Given the description of an element on the screen output the (x, y) to click on. 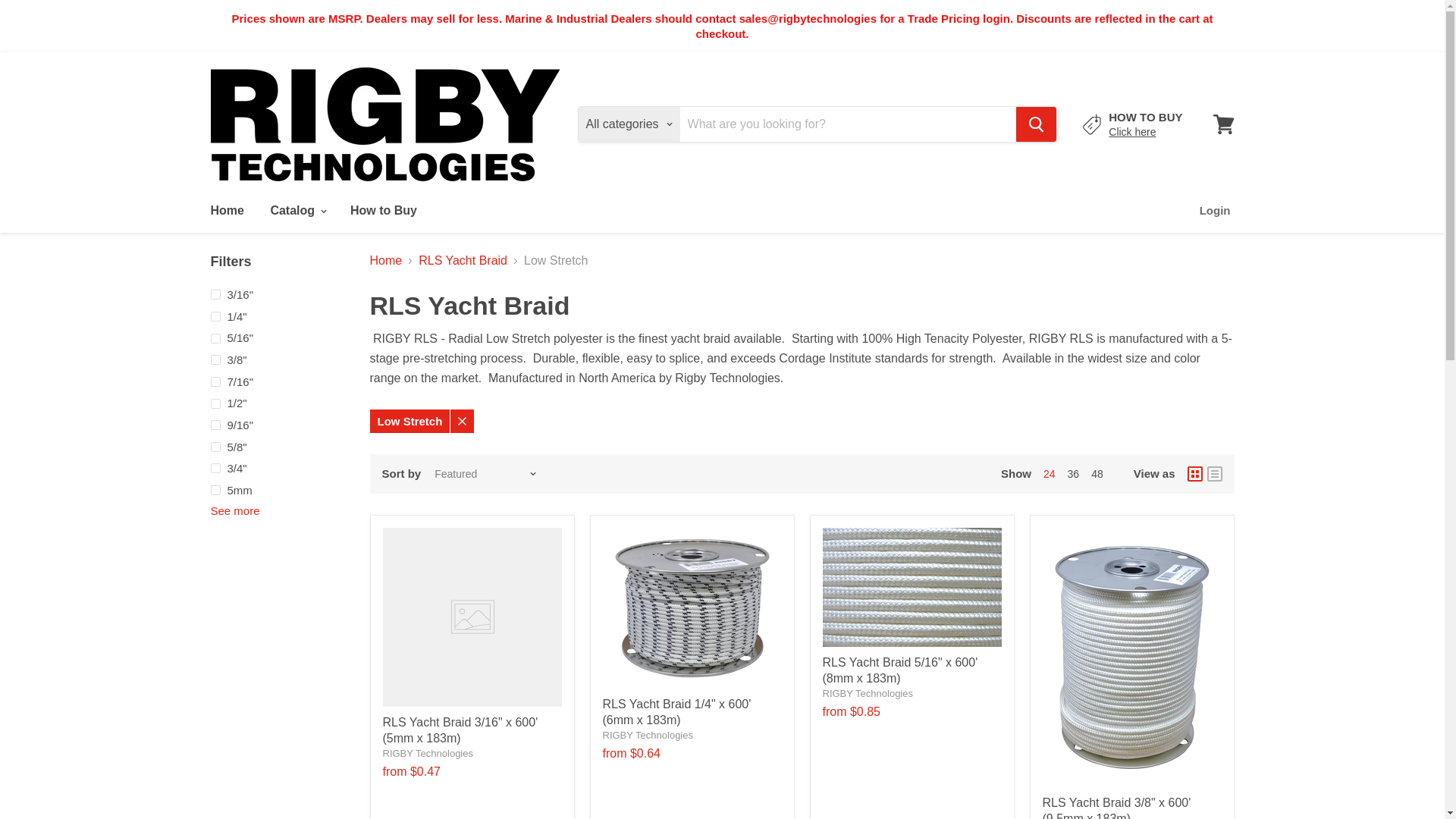
How to Buy (383, 210)
Click here (1132, 132)
How to Buy (1132, 132)
Login (1215, 210)
View cart (1223, 124)
Home (226, 210)
Catalog (296, 210)
